Given the description of an element on the screen output the (x, y) to click on. 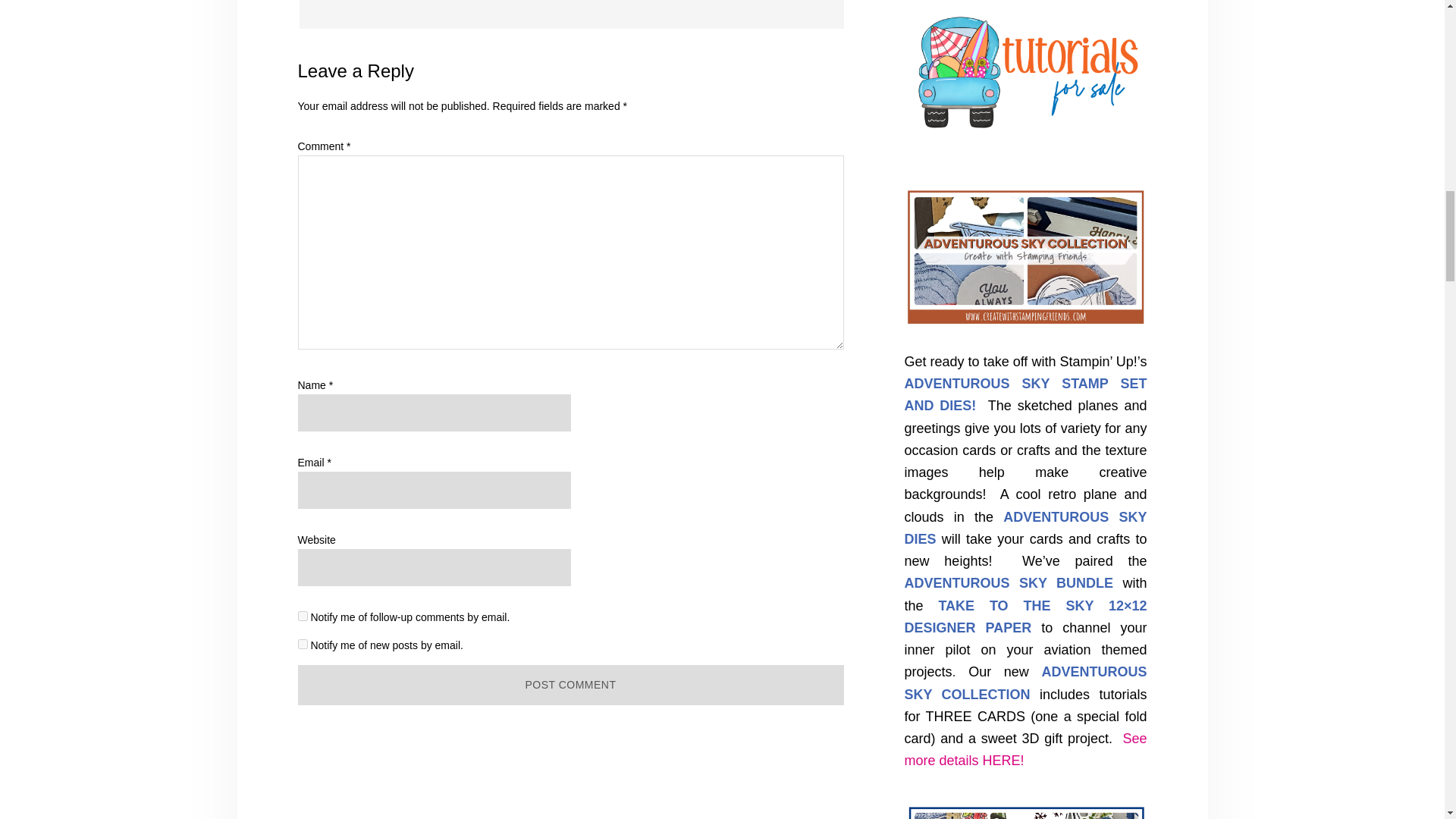
Post Comment (570, 685)
Post Comment (570, 685)
subscribe (302, 615)
subscribe (302, 644)
See more details HERE! (1025, 749)
